Given the description of an element on the screen output the (x, y) to click on. 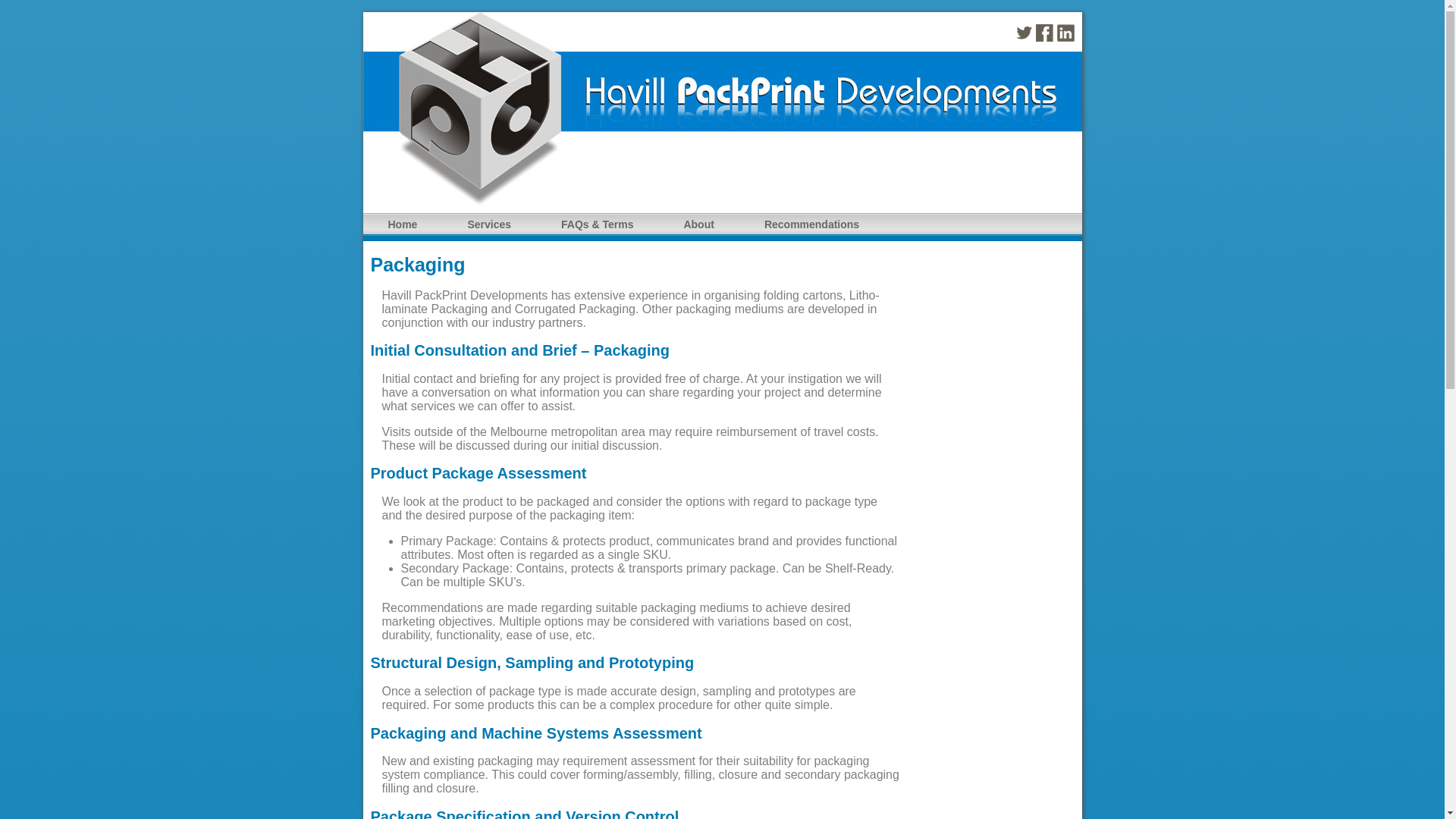
Home Element type: text (402, 224)
Services Element type: text (489, 224)
About Element type: text (698, 224)
Jump to navigation Element type: text (56, 12)
Home Element type: hover (721, 200)
Recommendations Element type: text (811, 224)
FAQs & Terms Element type: text (597, 224)
